Given the description of an element on the screen output the (x, y) to click on. 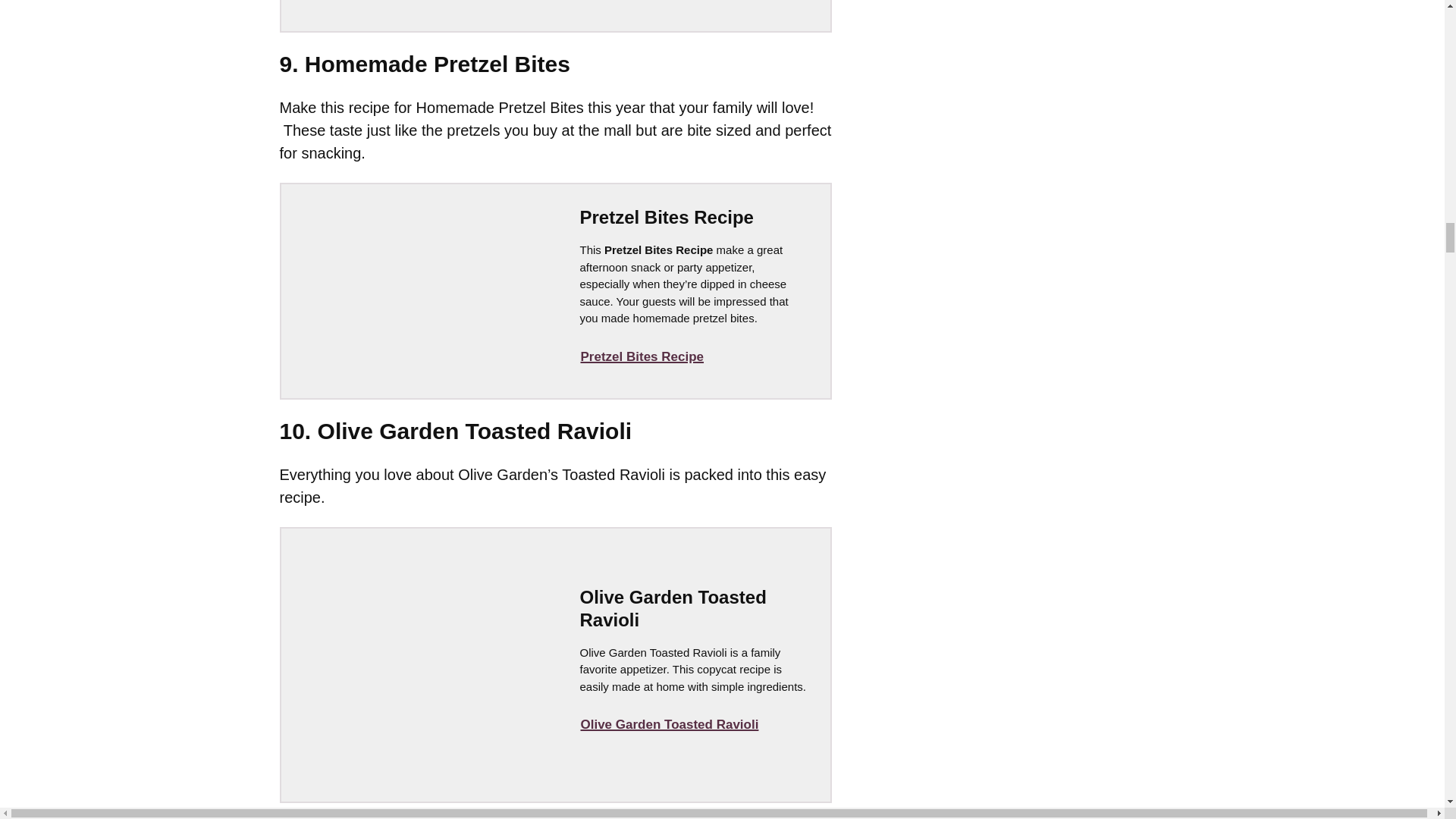
Olive Garden Toasted Ravioli (668, 724)
Pretzel Bites Recipe (641, 357)
